Given the description of an element on the screen output the (x, y) to click on. 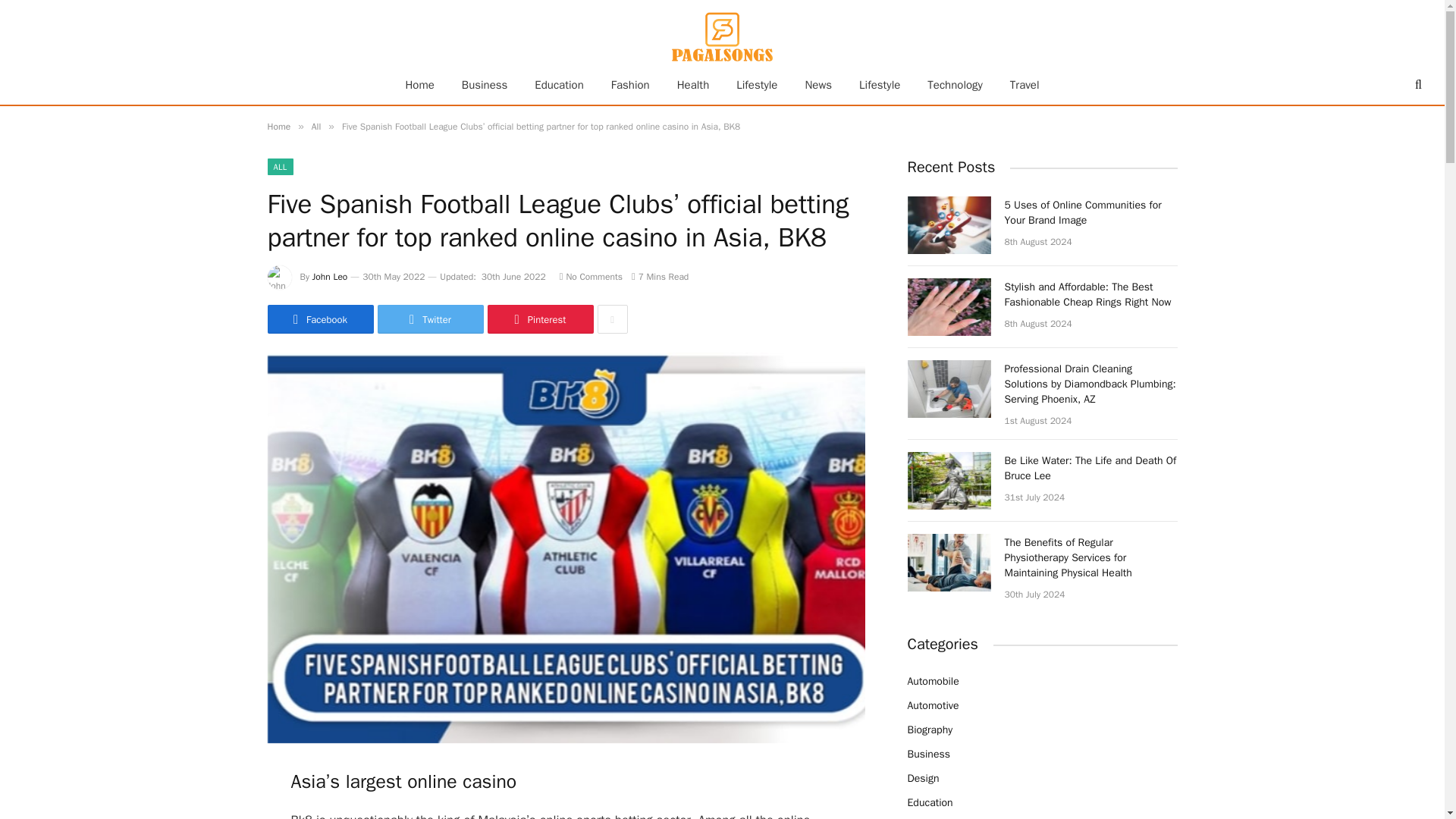
Home (418, 84)
John Leo (330, 276)
ALL (279, 166)
Posts by John Leo (330, 276)
Share on Facebook (319, 318)
No Comments (591, 276)
Business (484, 84)
Home (277, 126)
Lifestyle (756, 84)
Health (693, 84)
